Given the description of an element on the screen output the (x, y) to click on. 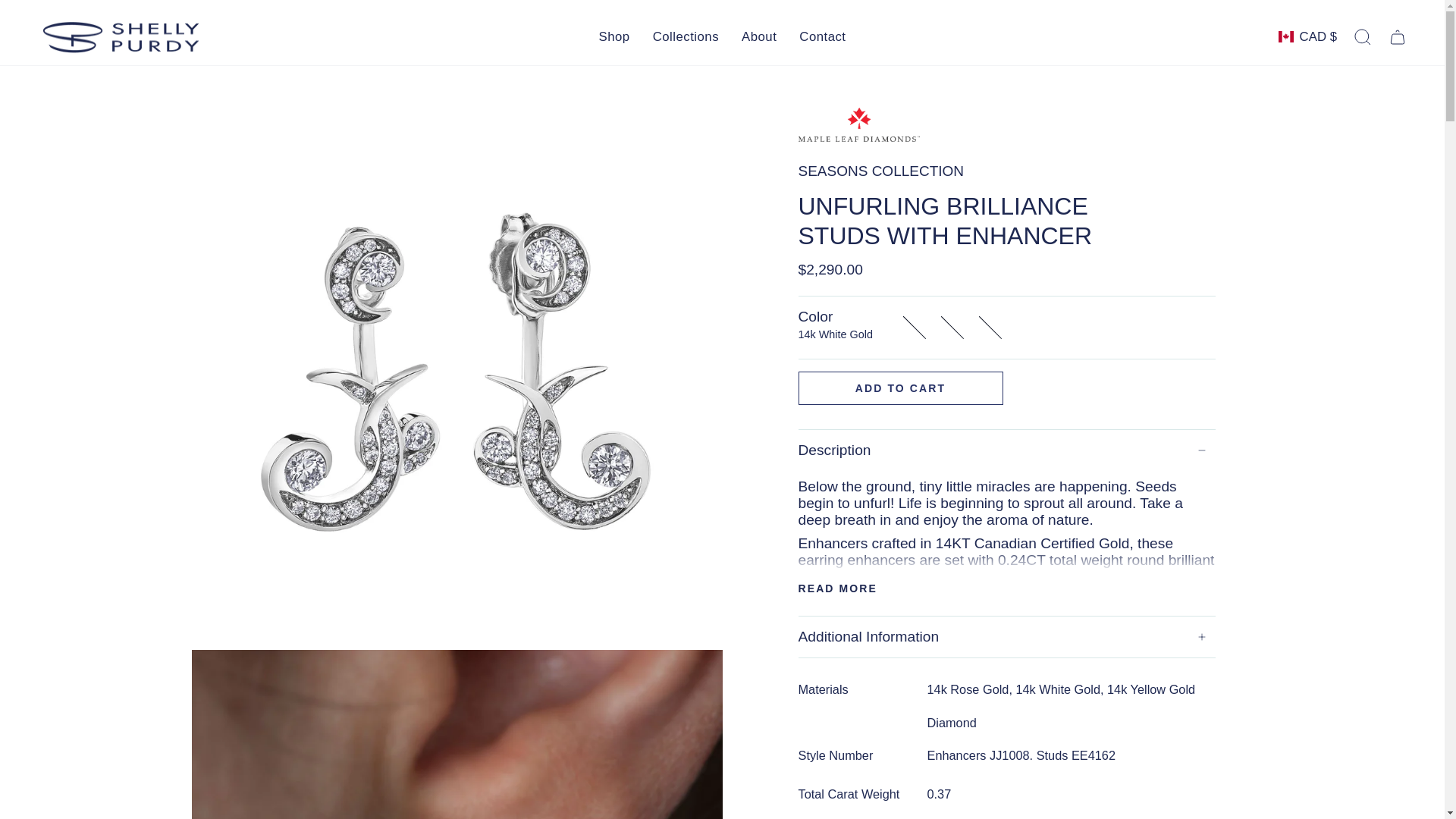
Cart (1397, 36)
Search (1362, 36)
Shop (615, 37)
Collections (686, 37)
